Given the description of an element on the screen output the (x, y) to click on. 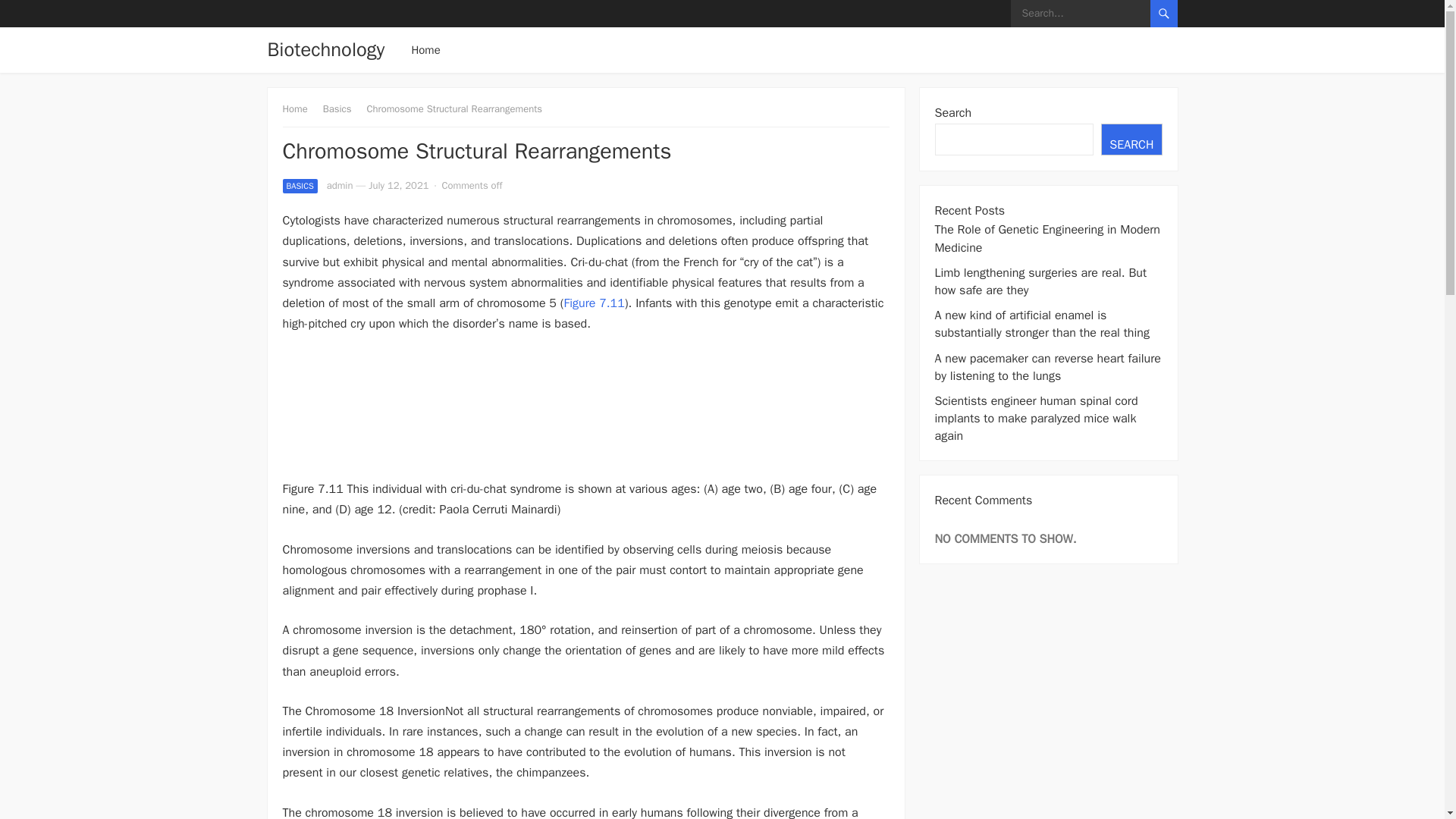
SEARCH (1130, 139)
Biotechnology (325, 49)
admin (339, 185)
Home (299, 108)
Posts by admin (339, 185)
BASICS (299, 186)
The Role of Genetic Engineering in Modern Medicine (1046, 237)
